Given the description of an element on the screen output the (x, y) to click on. 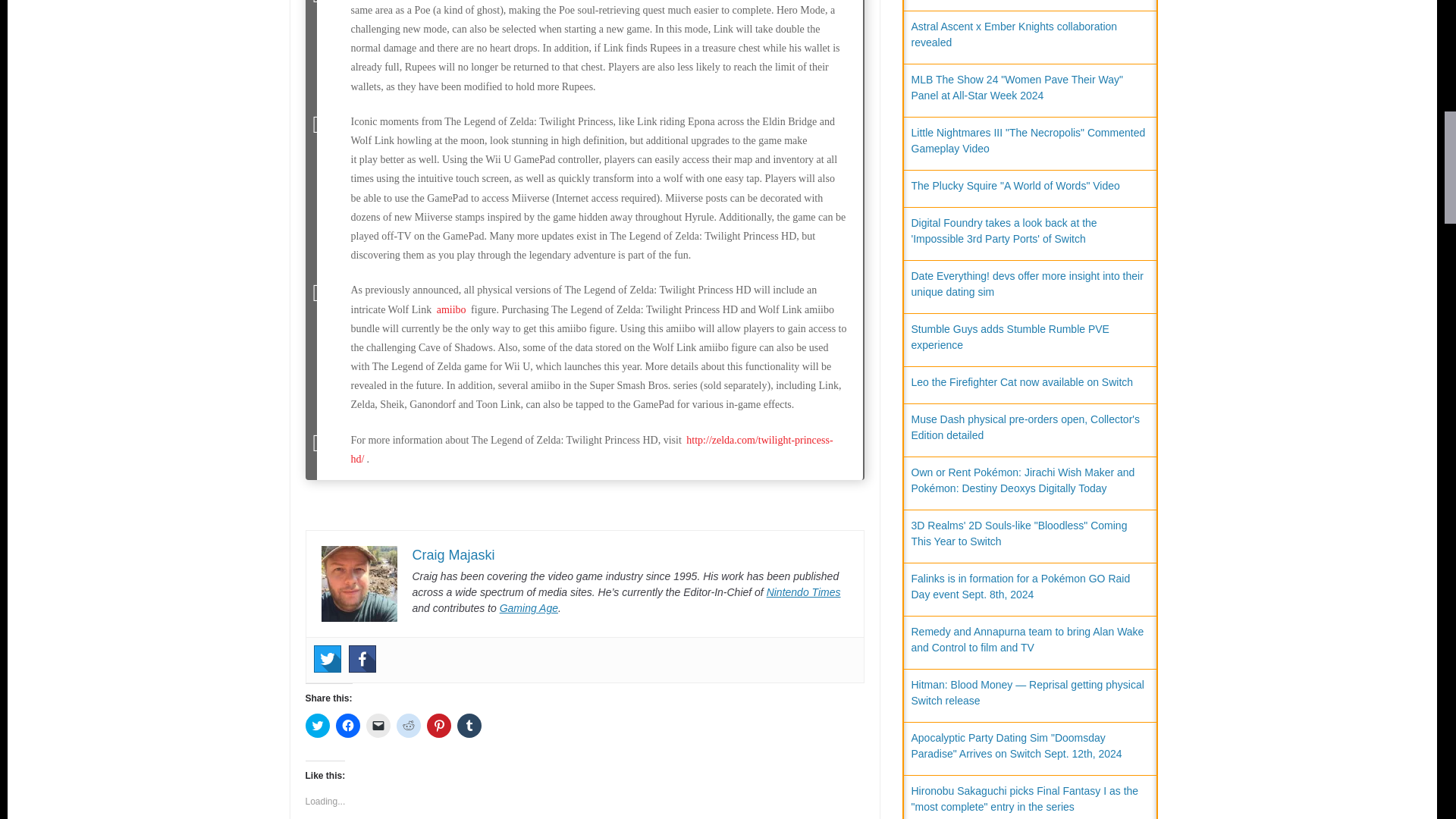
Click to email a link to a friend (377, 725)
Gaming Age (528, 607)
Nintendo Times (804, 592)
Click to share on Facebook (346, 725)
amiibo (450, 309)
Click to share on Reddit (408, 725)
Craig Majaski (453, 554)
Twitter (327, 658)
Facebook (362, 658)
Click to share on Pinterest (437, 725)
